Given the description of an element on the screen output the (x, y) to click on. 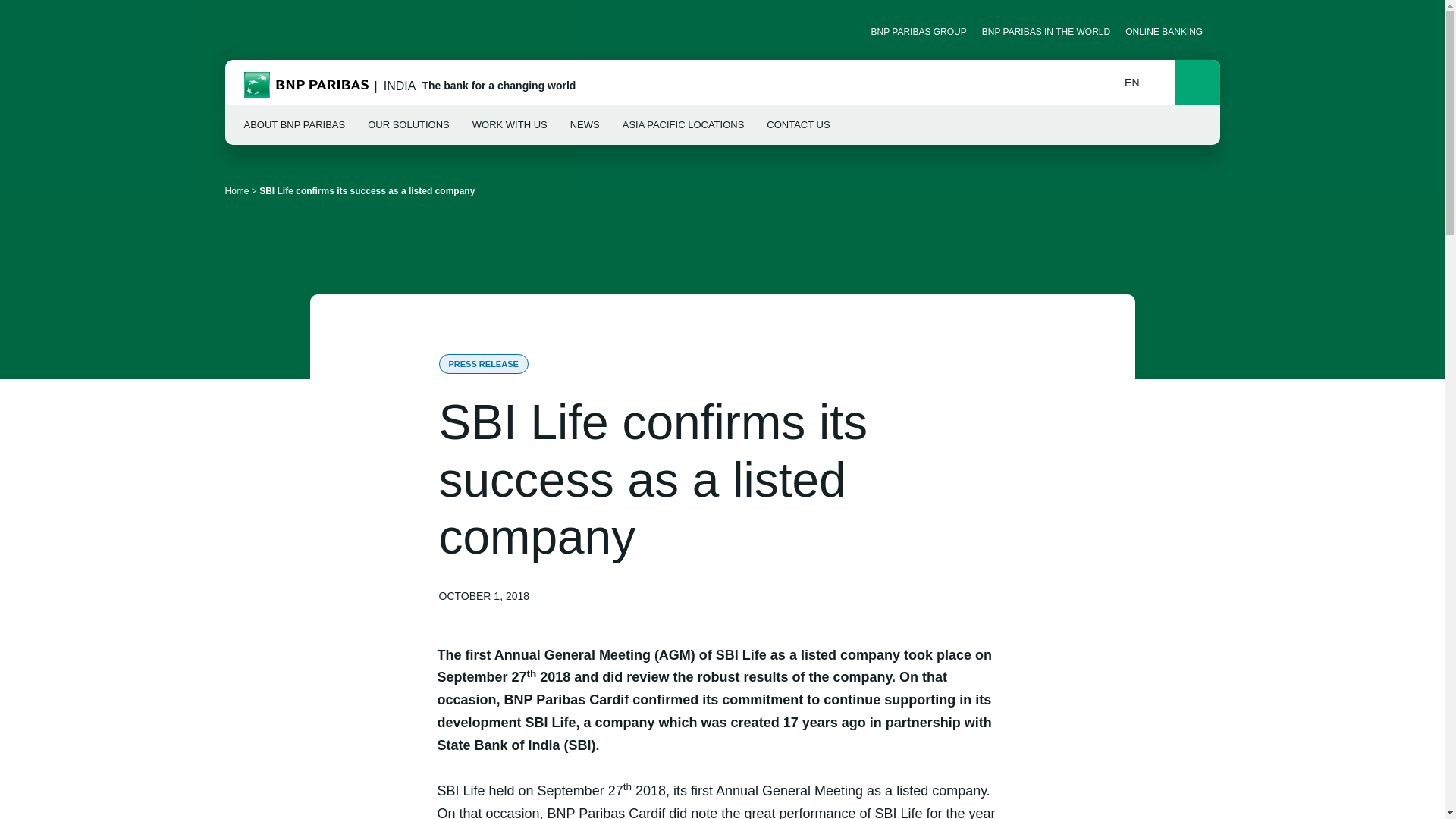
LinkedIn - New window (237, 31)
BNP PARIBAS GROUP (918, 31)
ABOUT BNP PARIBAS (295, 124)
LINKEDIN (237, 31)
X - New window (263, 31)
BNP Paribas (306, 86)
OUR SOLUTIONS (408, 124)
BNP PARIBAS IN THE WORLD (1046, 31)
ONLINE BANKING (1137, 82)
WORK WITH US (1169, 31)
ASIA PACIFIC LOCATIONS (509, 124)
Search (683, 124)
X (1196, 82)
